Given the description of an element on the screen output the (x, y) to click on. 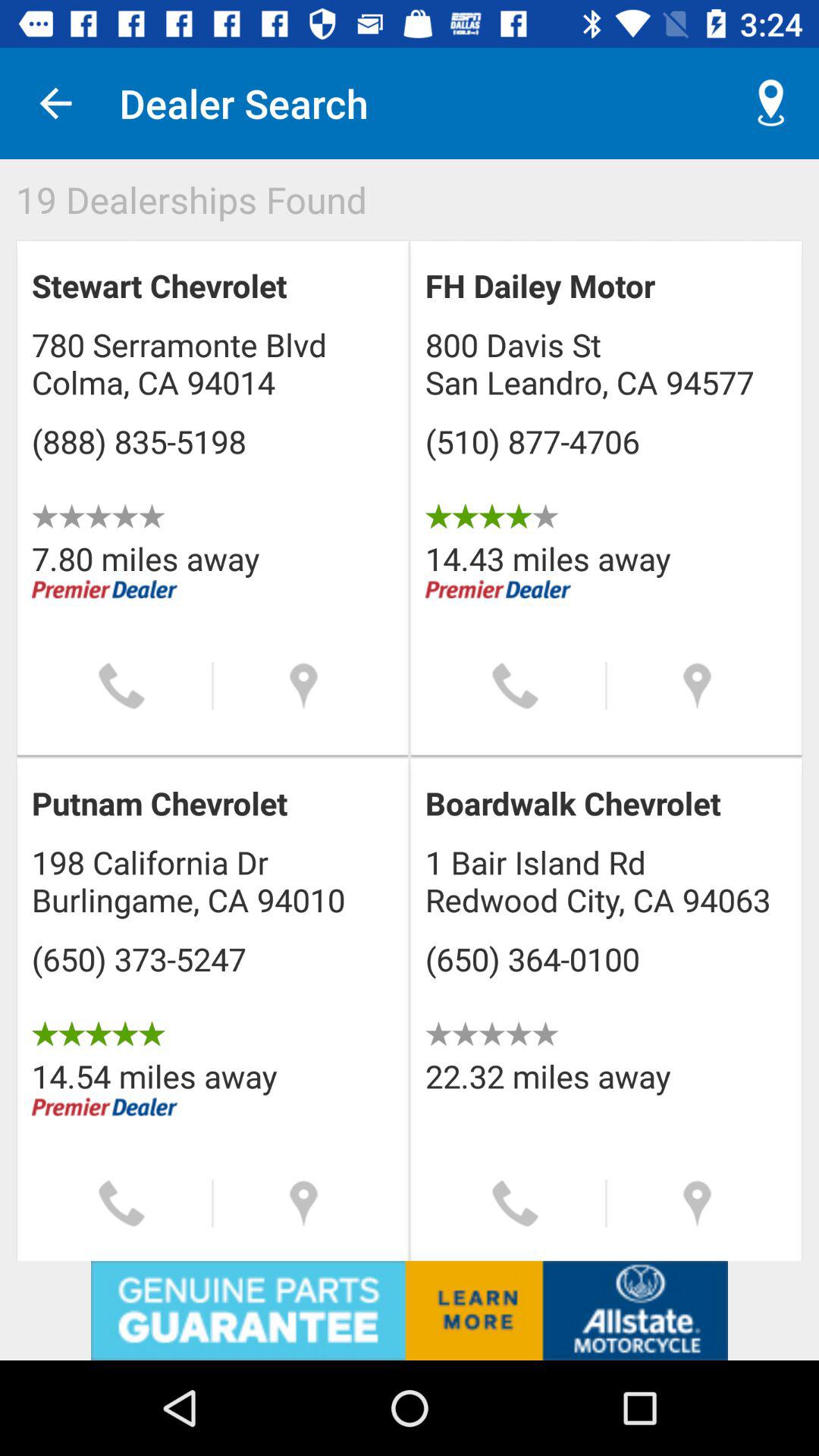
go to site (409, 1310)
